Given the description of an element on the screen output the (x, y) to click on. 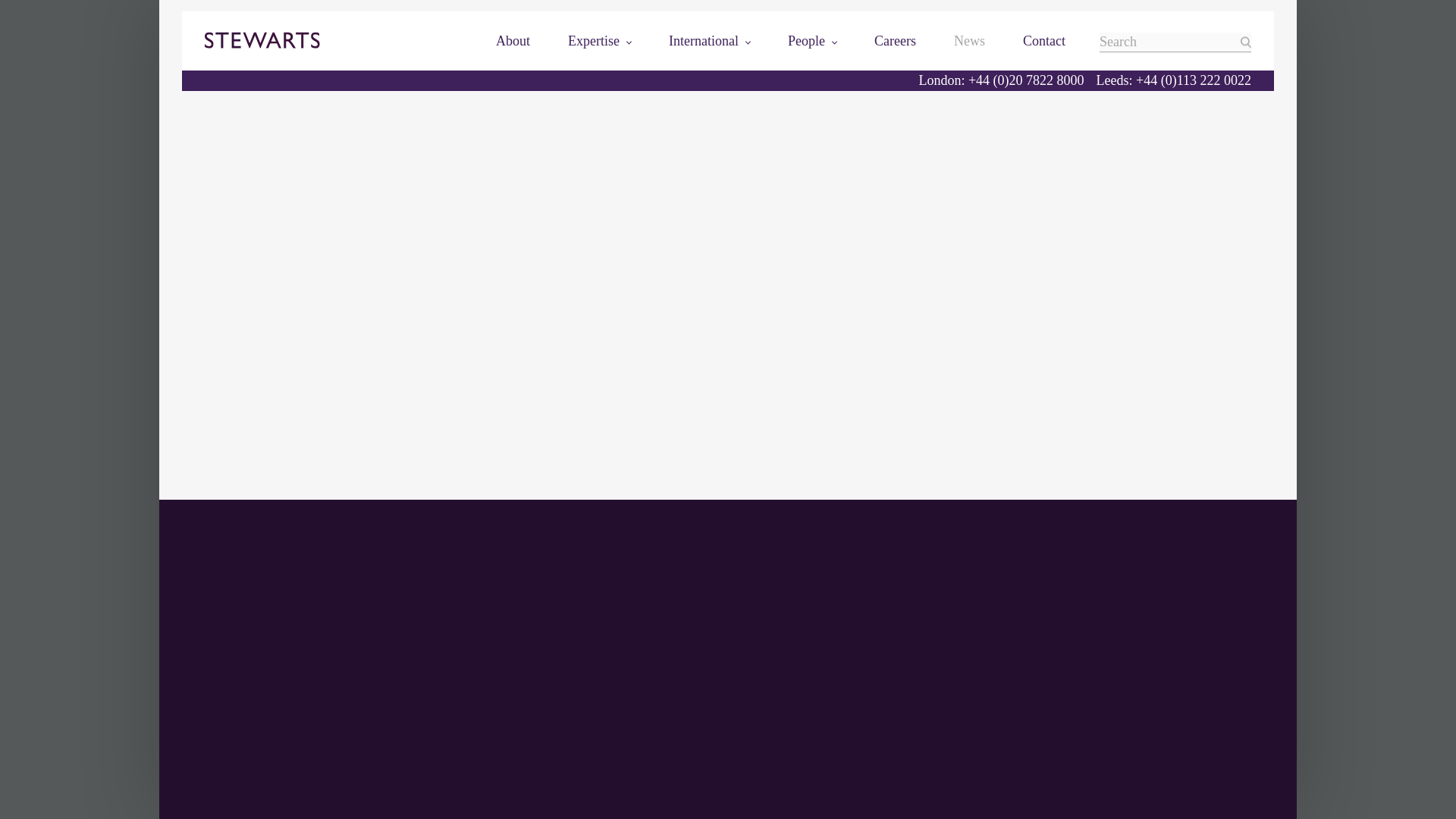
Careers (895, 41)
People (812, 41)
News (969, 41)
Expertise (598, 41)
International (708, 41)
About (512, 41)
